Given the description of an element on the screen output the (x, y) to click on. 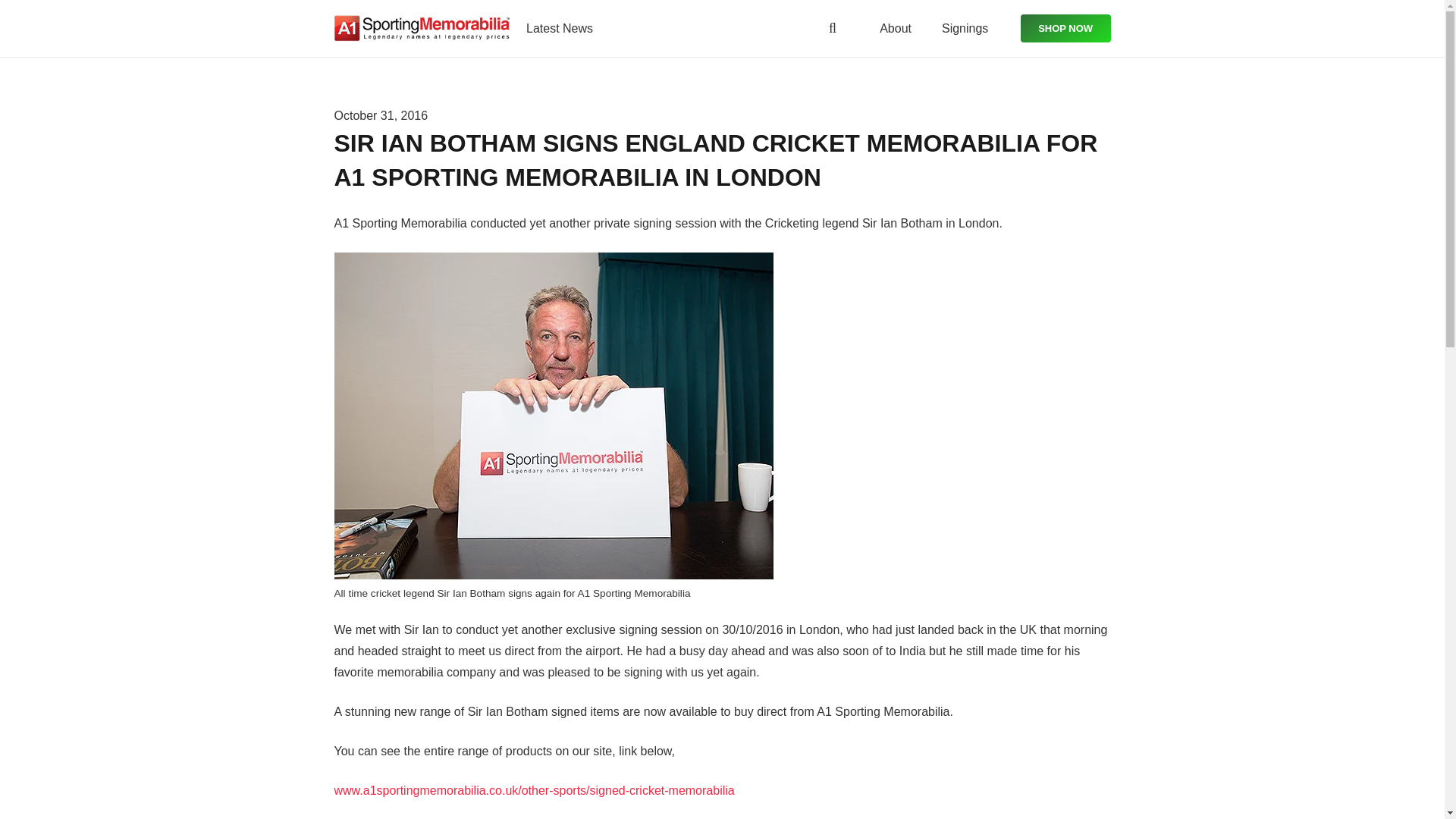
Signings (964, 27)
SHOP NOW (1065, 27)
About (895, 27)
